Given the description of an element on the screen output the (x, y) to click on. 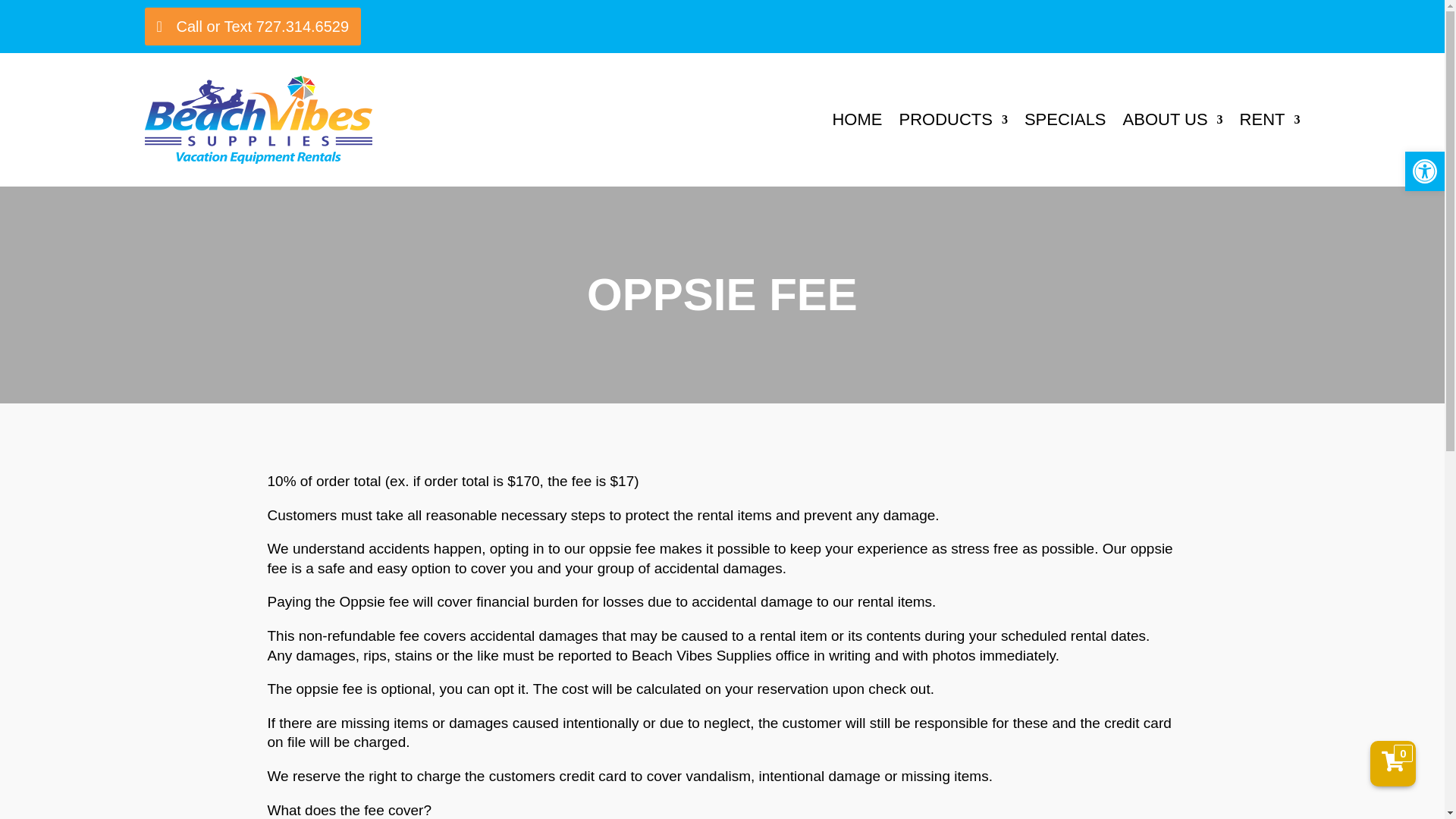
Accessibility Tools (1424, 170)
PRODUCTS (952, 119)
SPECIALS (1065, 119)
ABOUT US (1172, 119)
Call or Text 727.314.6529 (252, 26)
